Given the description of an element on the screen output the (x, y) to click on. 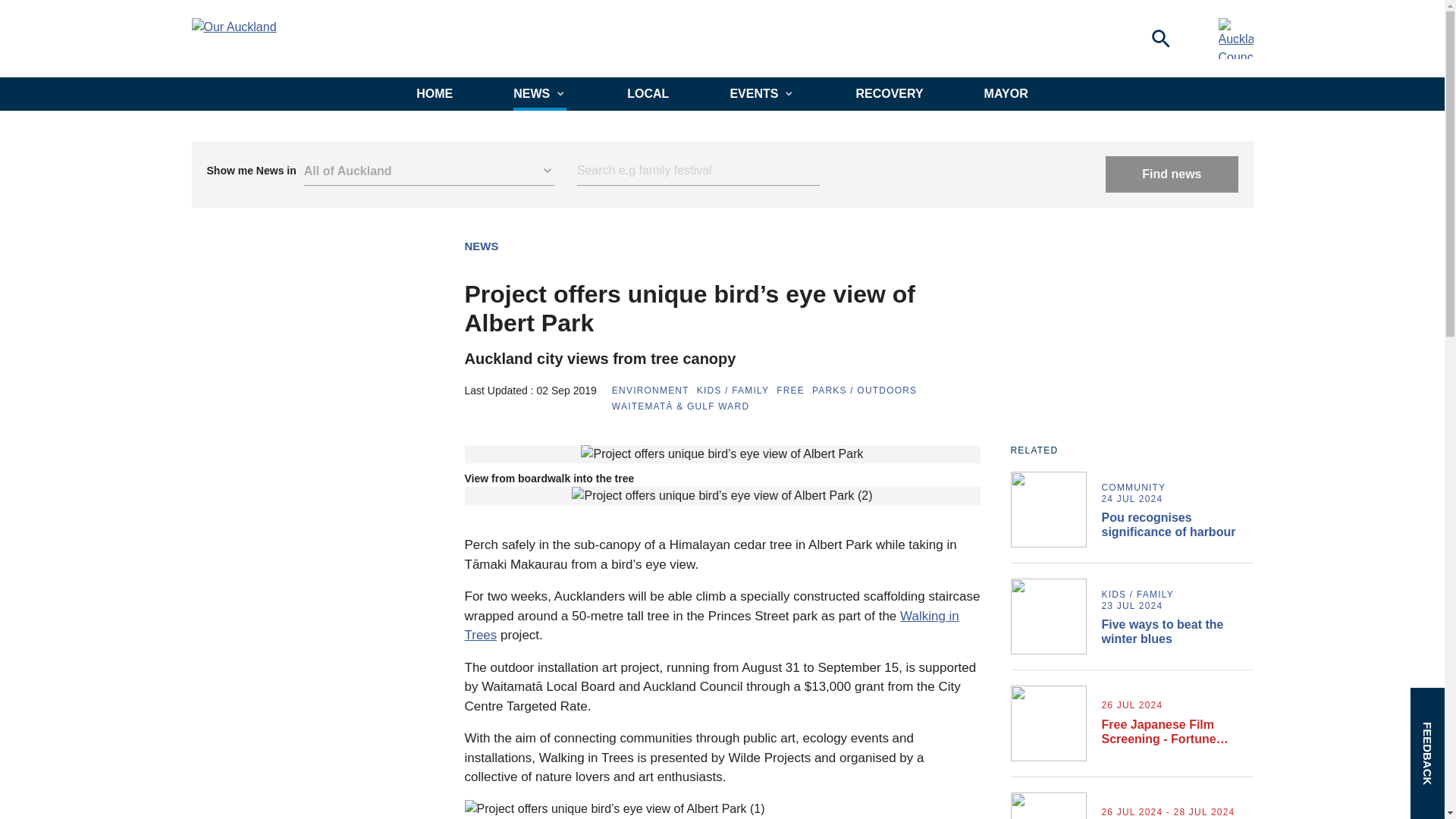
FREE (790, 389)
Toggle search (1160, 38)
NEWS (539, 93)
ENVIRONMENT (649, 389)
LOCAL (647, 93)
MAYOR (1005, 93)
HOME (434, 93)
Search (697, 170)
EVENTS (761, 93)
RECOVERY (889, 93)
NEWS (480, 245)
Find news (1171, 174)
Walking in Trees (711, 625)
